Given the description of an element on the screen output the (x, y) to click on. 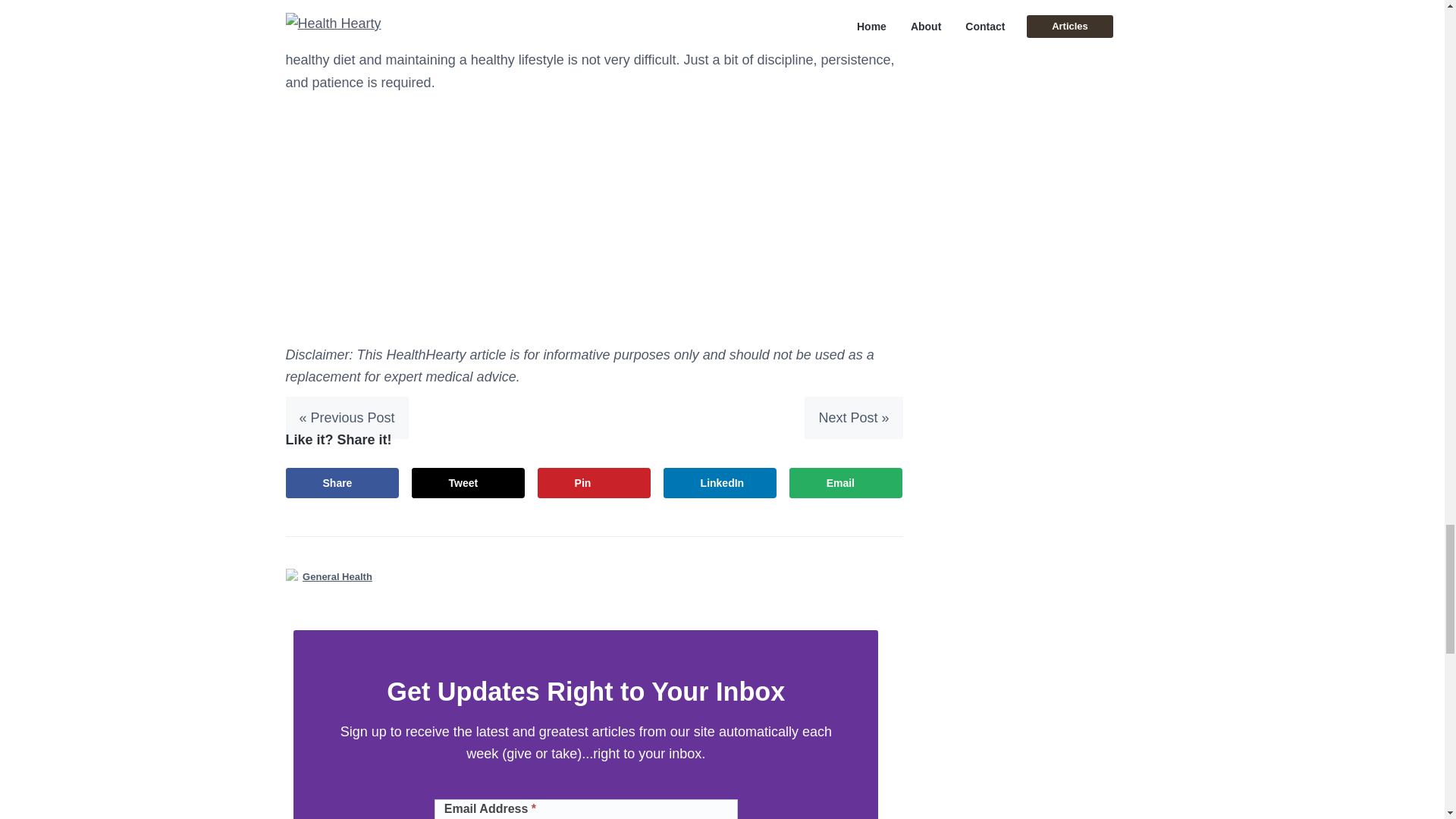
Send over email (845, 482)
Share on LinkedIn (720, 482)
Save to Pinterest (593, 482)
Share (341, 482)
Pin (593, 482)
Tweet (468, 482)
Email (845, 482)
Share on X (468, 482)
Share on Facebook (341, 482)
General Health (337, 576)
LinkedIn (720, 482)
